Given the description of an element on the screen output the (x, y) to click on. 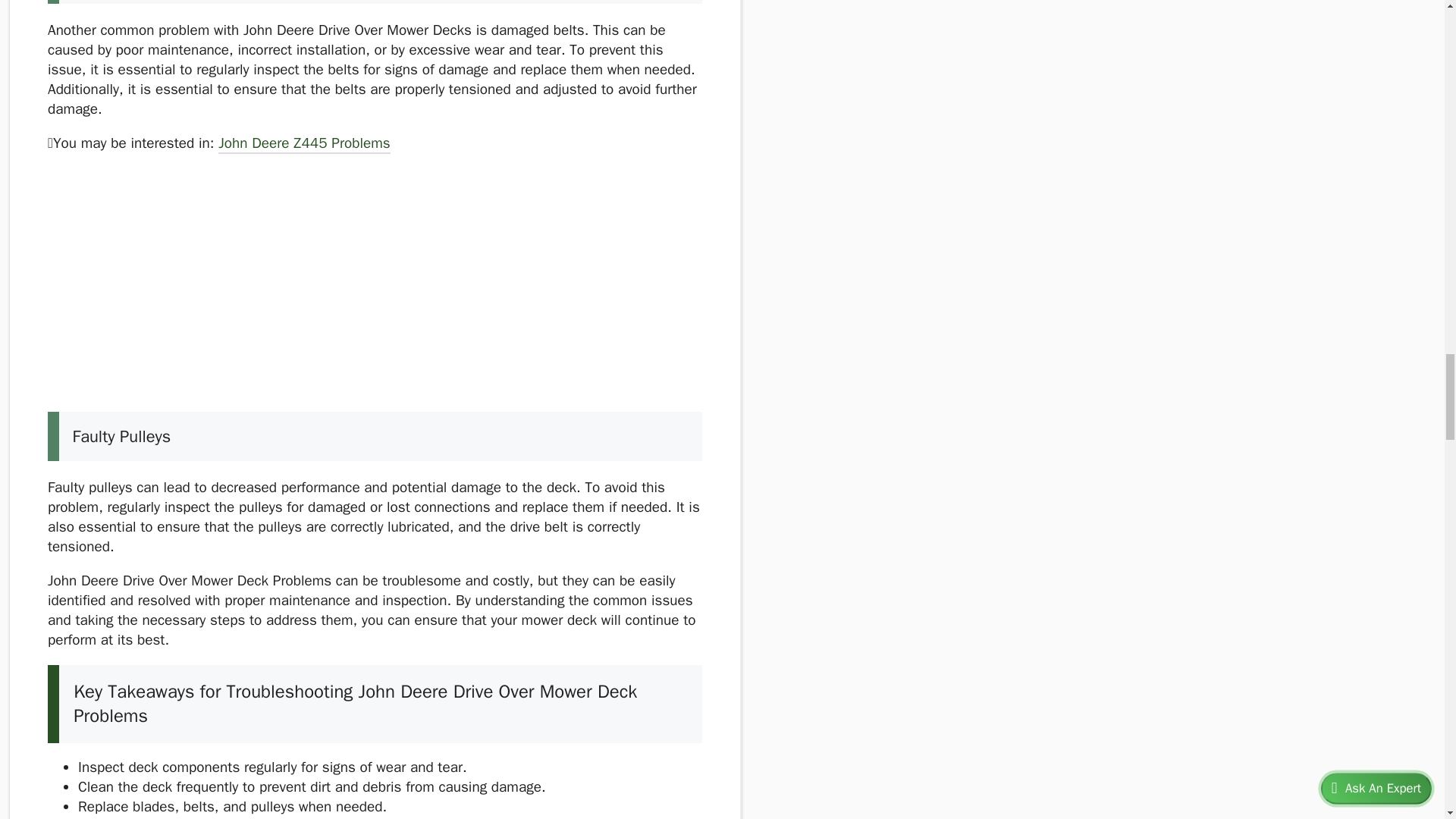
John Deere Z445 Problems (304, 144)
